Given the description of an element on the screen output the (x, y) to click on. 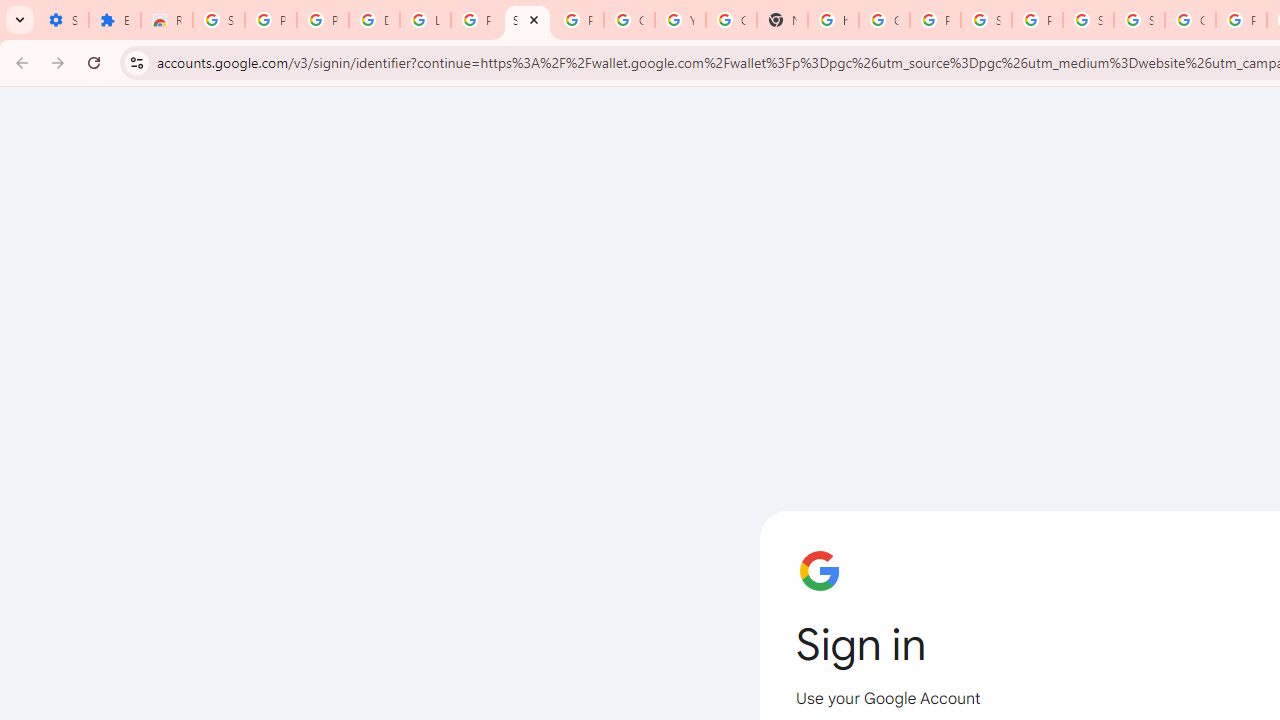
Extensions (114, 20)
Sign in - Google Accounts (1138, 20)
https://scholar.google.com/ (832, 20)
Learn how to find your photos - Google Photos Help (424, 20)
Settings - On startup (63, 20)
Reviews: Helix Fruit Jump Arcade Game (166, 20)
Sign in - Google Accounts (526, 20)
